Given the description of an element on the screen output the (x, y) to click on. 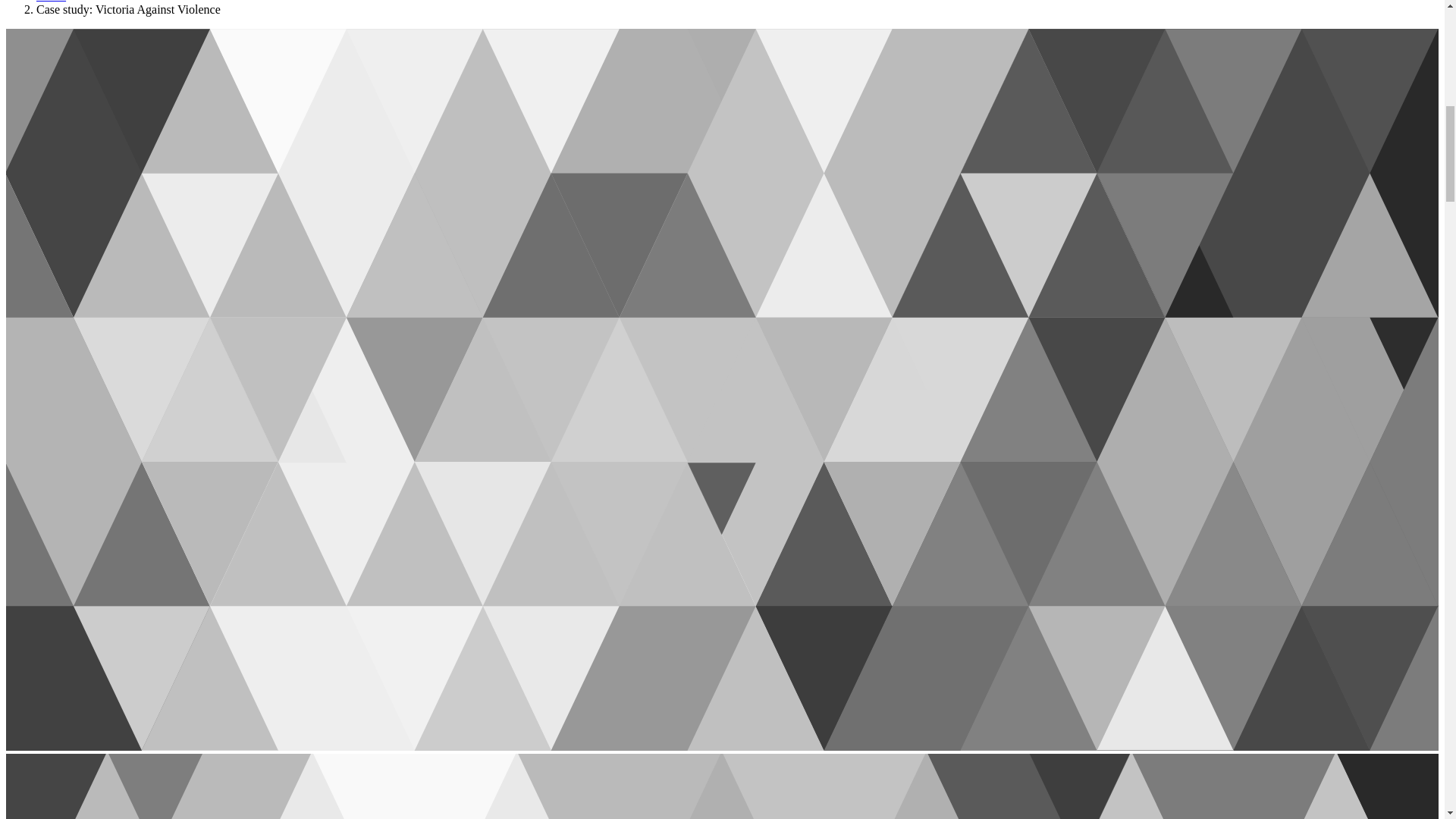
Home (50, 1)
